Given the description of an element on the screen output the (x, y) to click on. 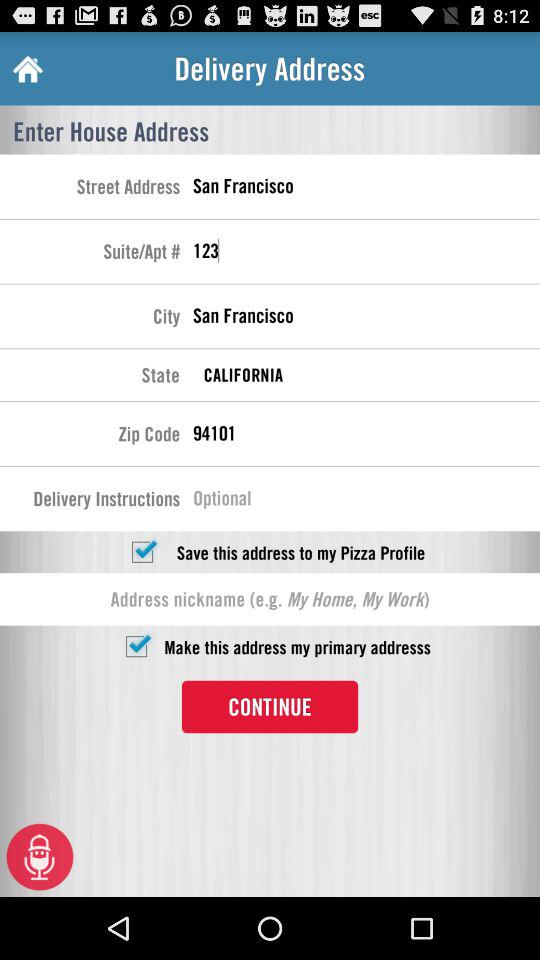
nickname row enter (270, 599)
